Given the description of an element on the screen output the (x, y) to click on. 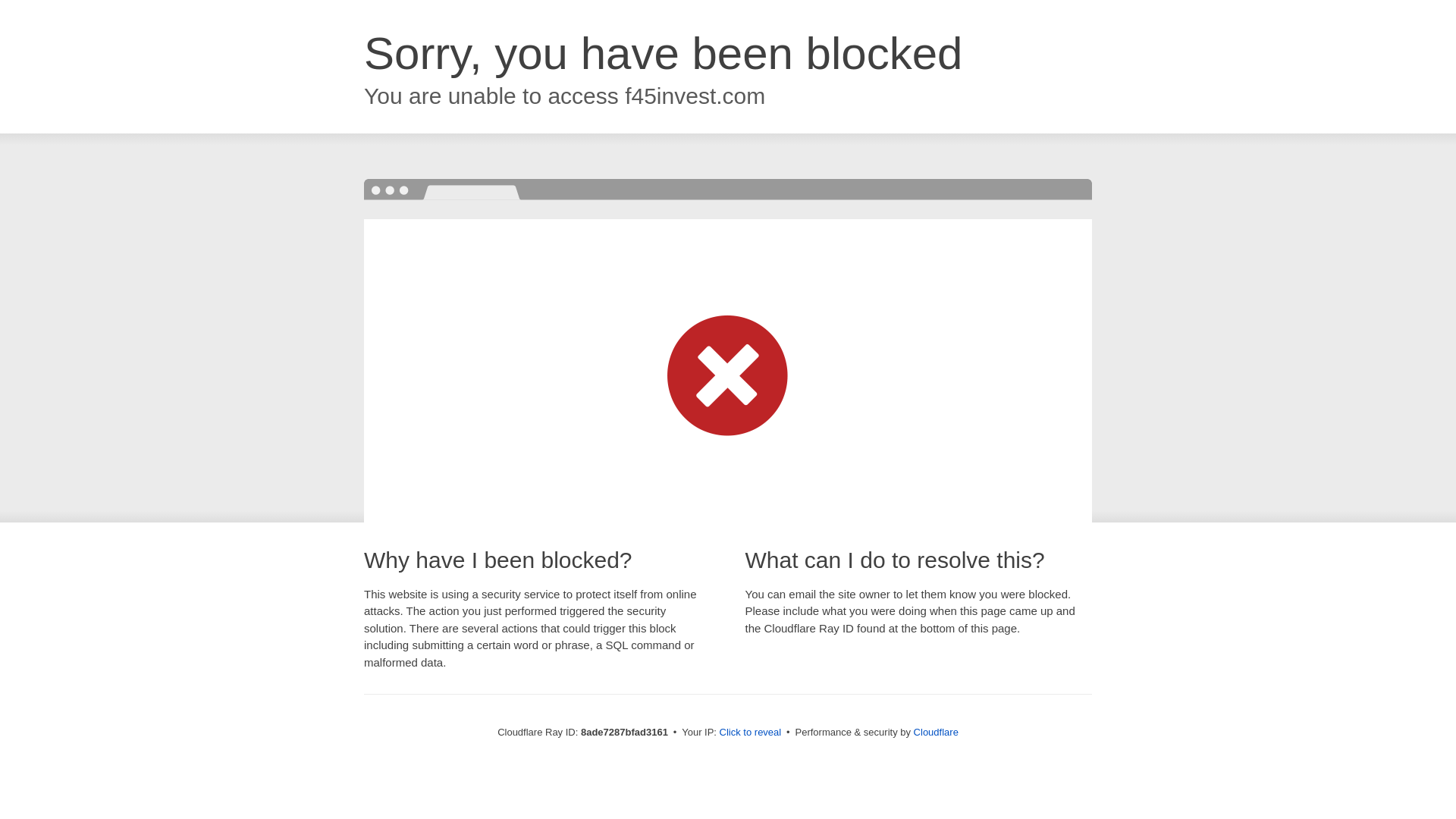
Click to reveal (750, 732)
Cloudflare (936, 731)
